Given the description of an element on the screen output the (x, y) to click on. 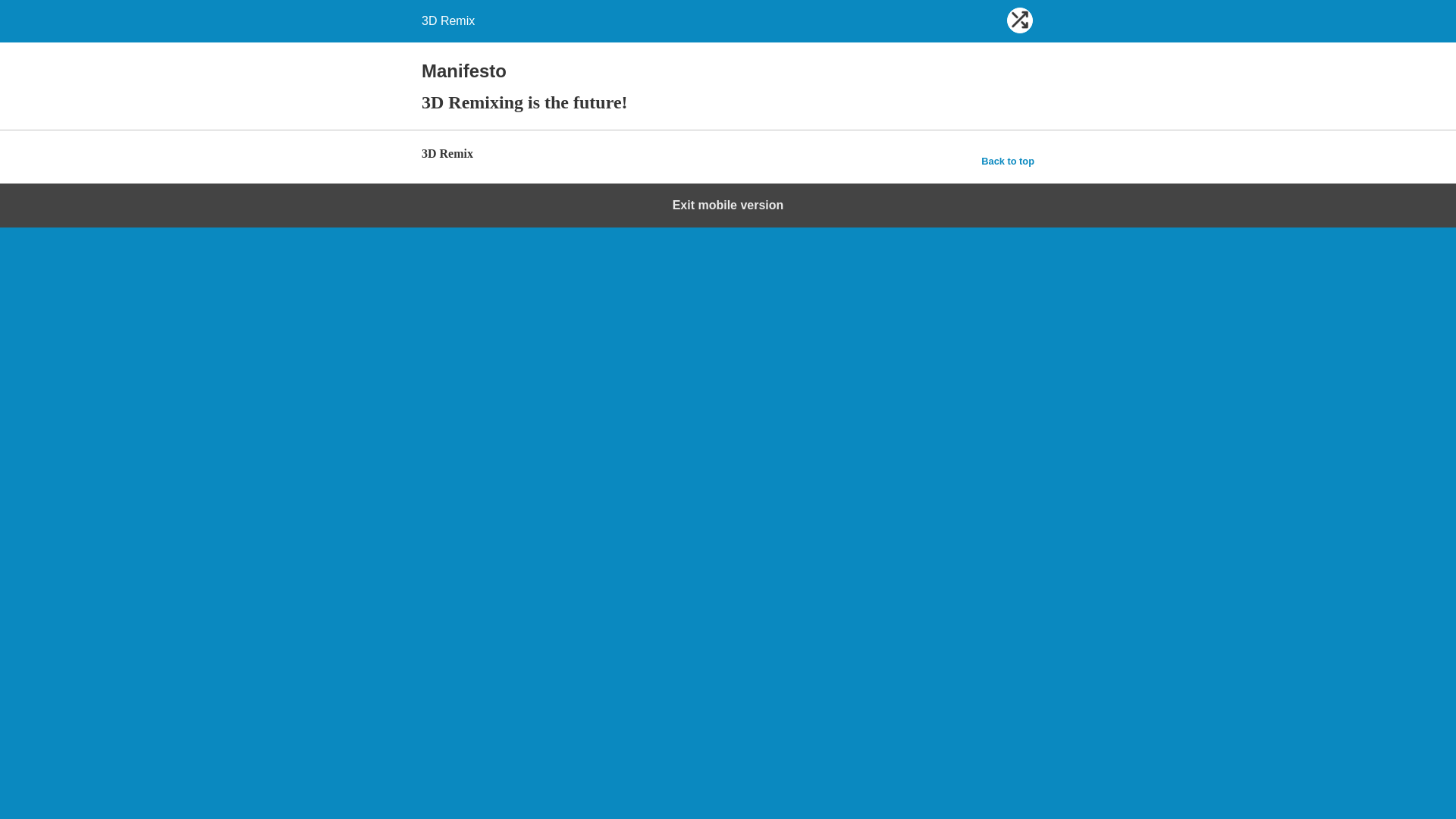
Back to top Element type: text (1007, 161)
3D Remix Element type: text (447, 20)
